Given the description of an element on the screen output the (x, y) to click on. 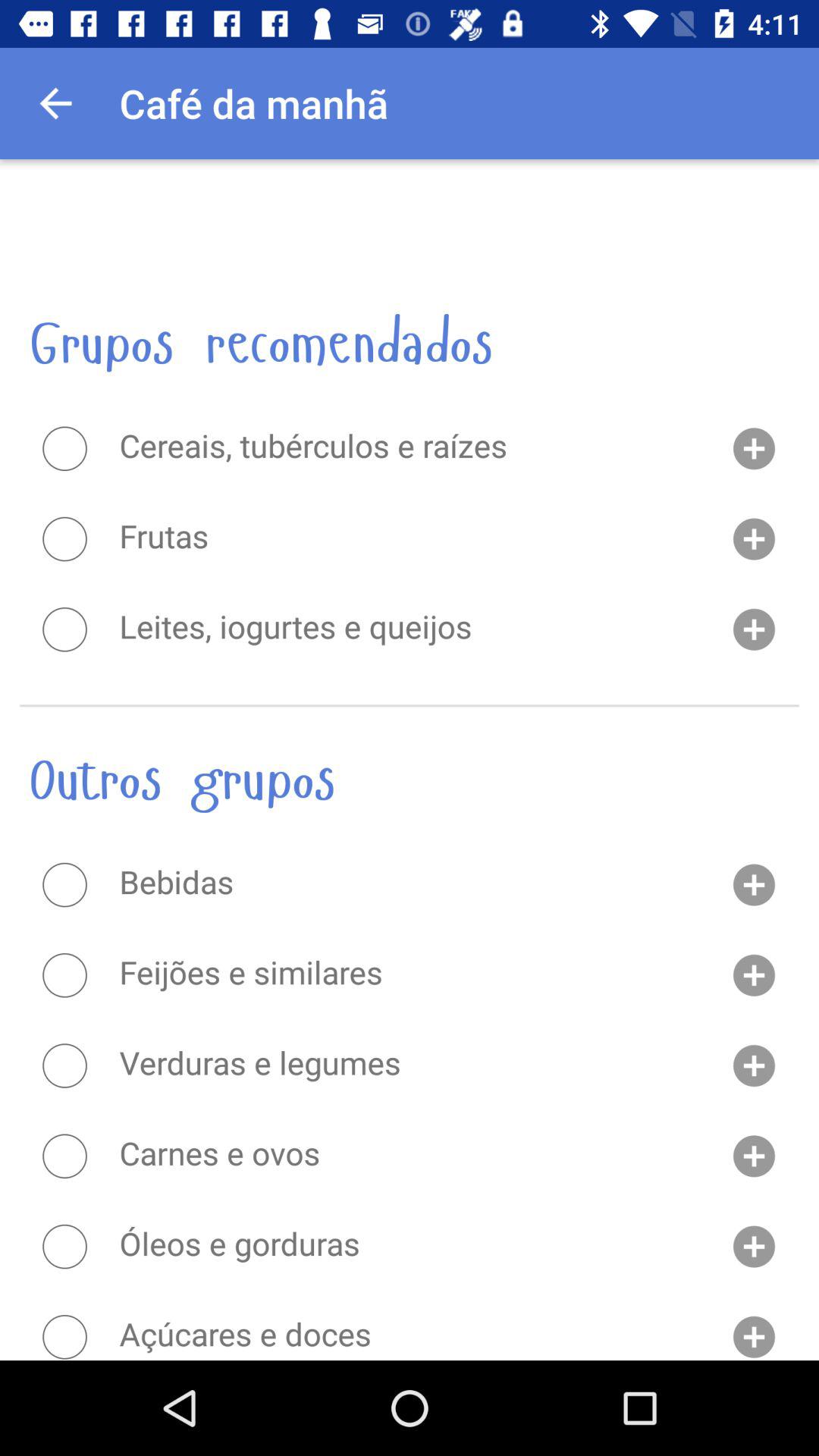
tap to select (64, 1156)
